Given the description of an element on the screen output the (x, y) to click on. 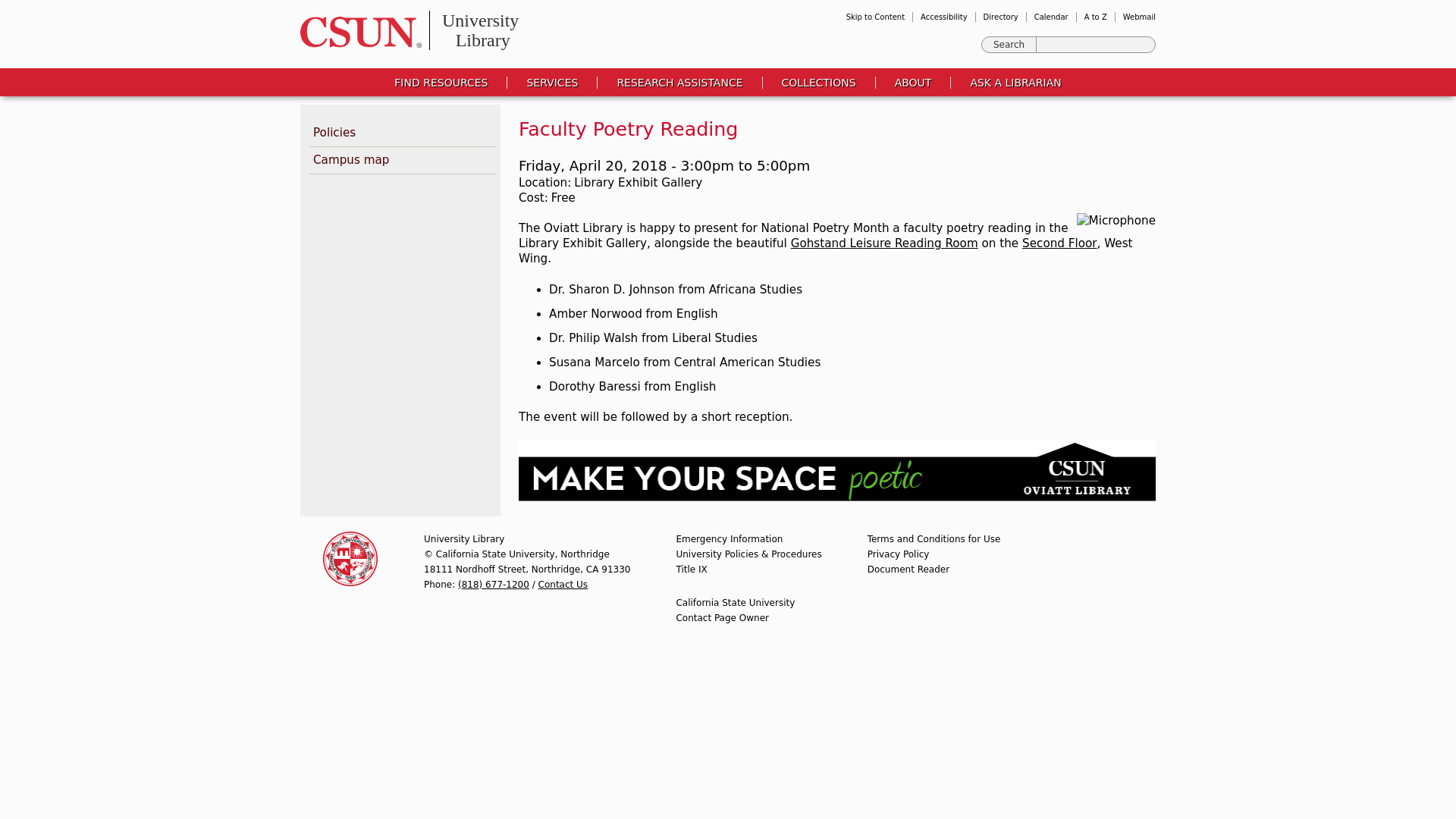
Policies (401, 133)
Accessibility (944, 16)
Second Floor (1059, 243)
Directory (1000, 16)
Campus map (401, 160)
Calendar (1050, 16)
Search (1008, 44)
Contact Library Webmaster (721, 617)
SERVICES (551, 81)
Find Resources (440, 81)
Webmail (1139, 16)
Services (551, 81)
ABOUT (913, 81)
Skip to Content (874, 16)
FIND RESOURCES (440, 81)
